Given the description of an element on the screen output the (x, y) to click on. 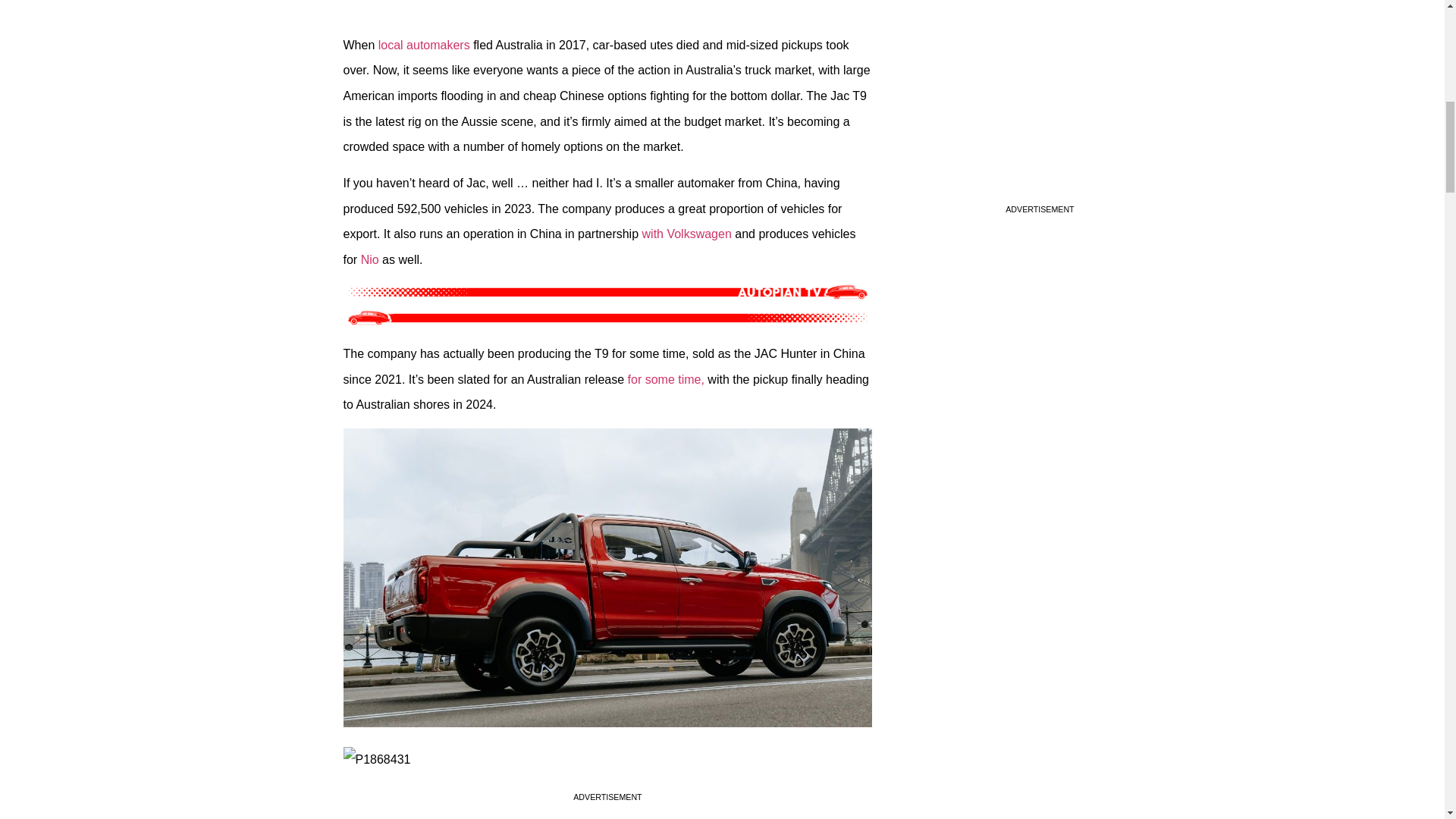
for some time, (665, 379)
with Volkswagen (687, 233)
local automakers (424, 44)
Nio (369, 259)
